Given the description of an element on the screen output the (x, y) to click on. 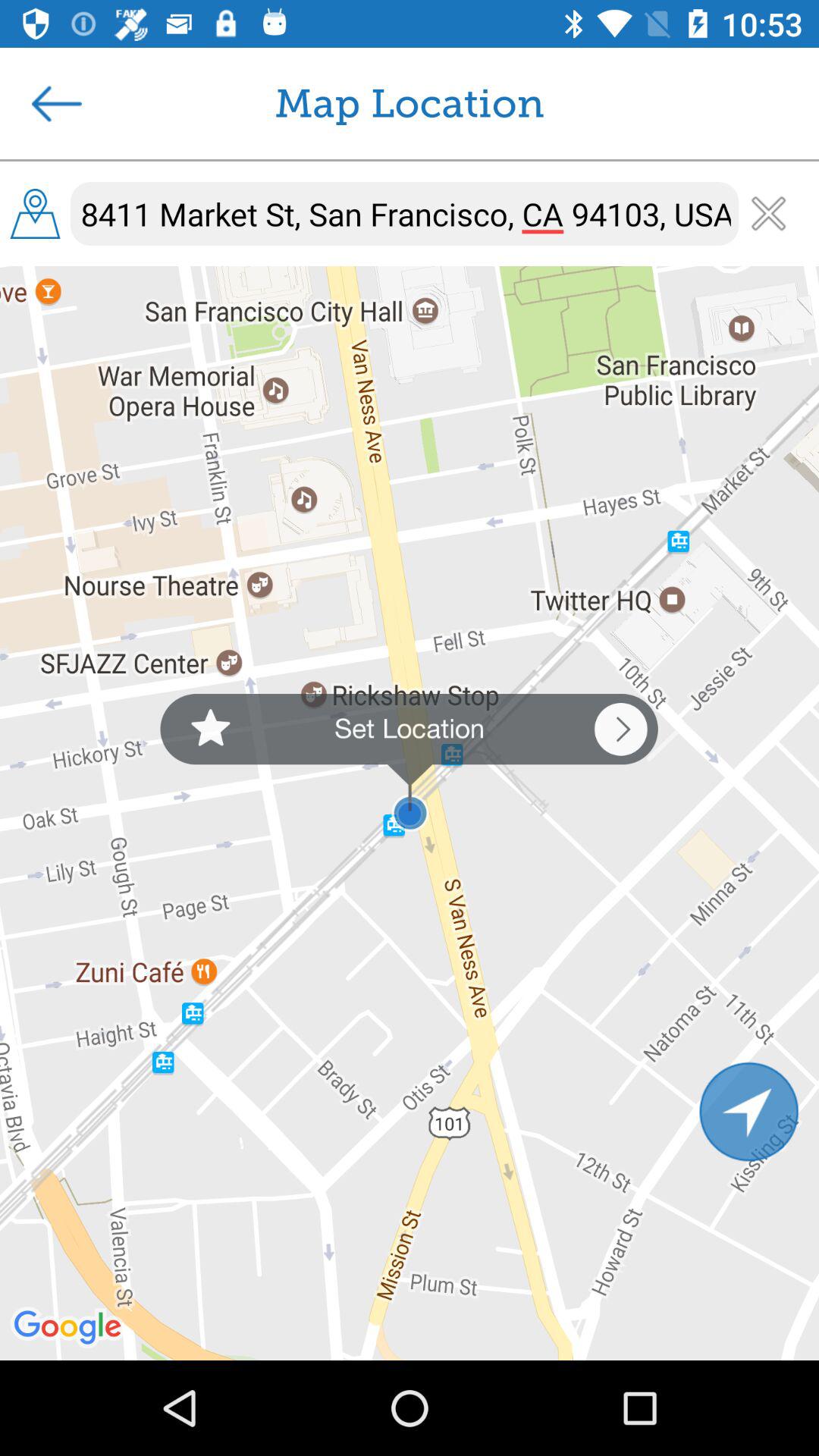
delete address (768, 213)
